Given the description of an element on the screen output the (x, y) to click on. 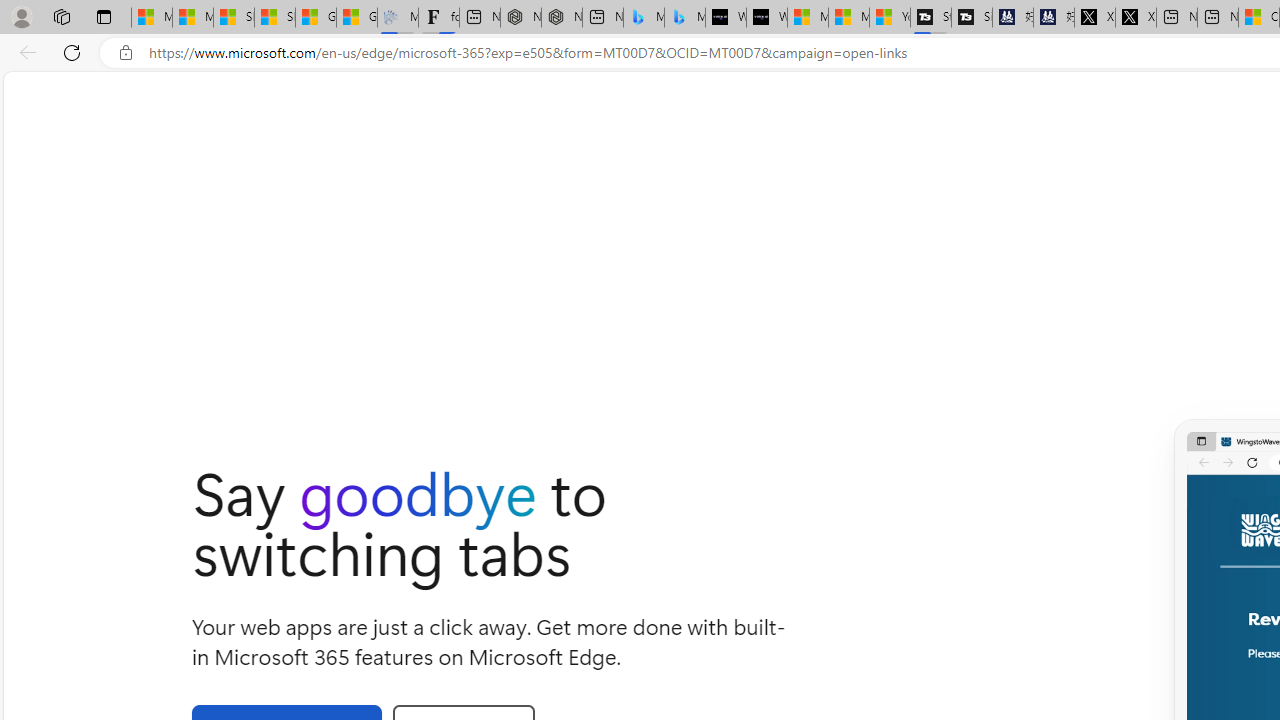
Streaming Coverage | T3 (931, 17)
Microsoft Bing Travel - Stays in Bangkok, Bangkok, Thailand (643, 17)
Microsoft Bing Travel - Shangri-La Hotel Bangkok (684, 17)
